Given the description of an element on the screen output the (x, y) to click on. 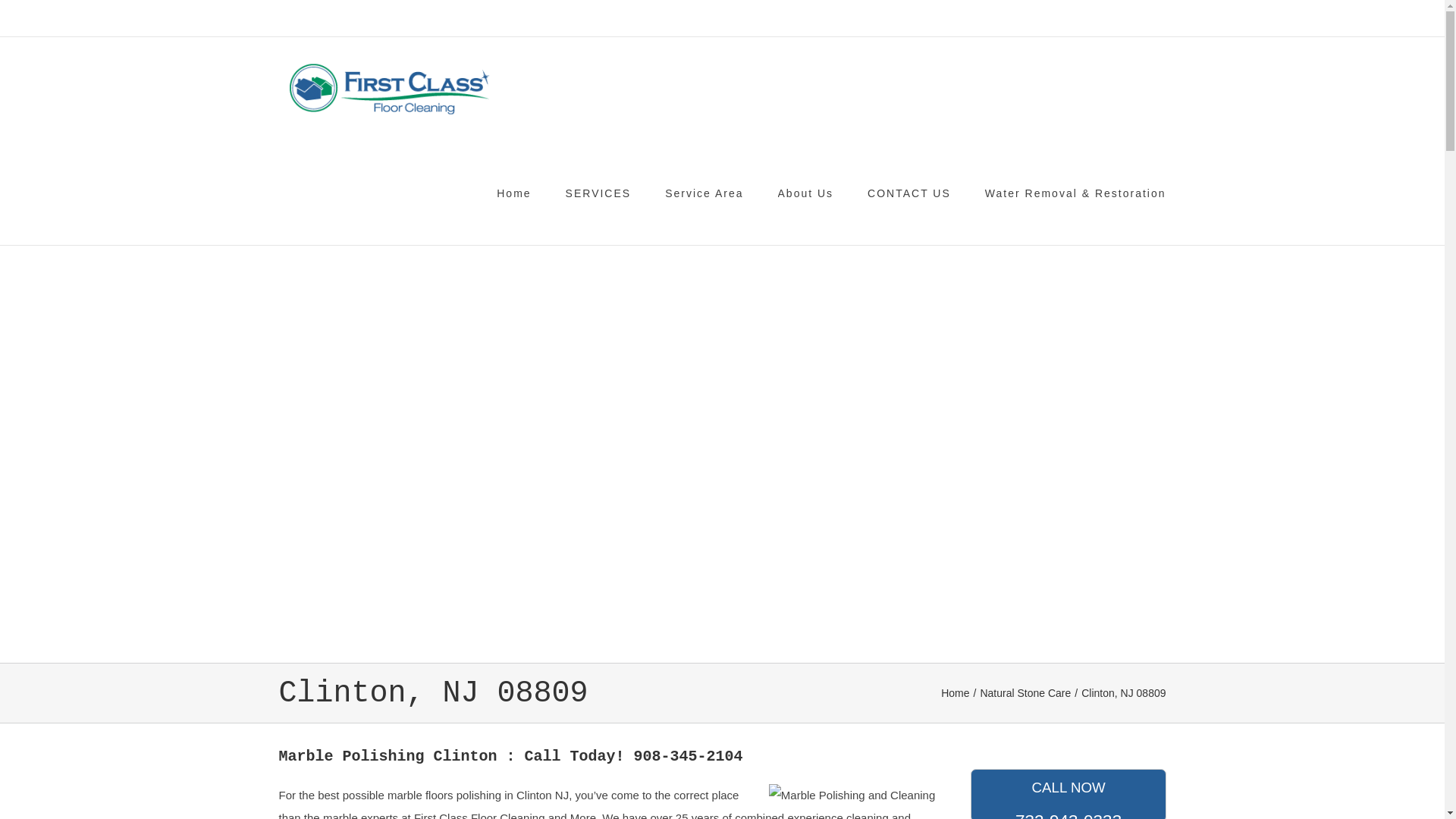
Home (954, 693)
Natural Stone Care (1068, 794)
